Given the description of an element on the screen output the (x, y) to click on. 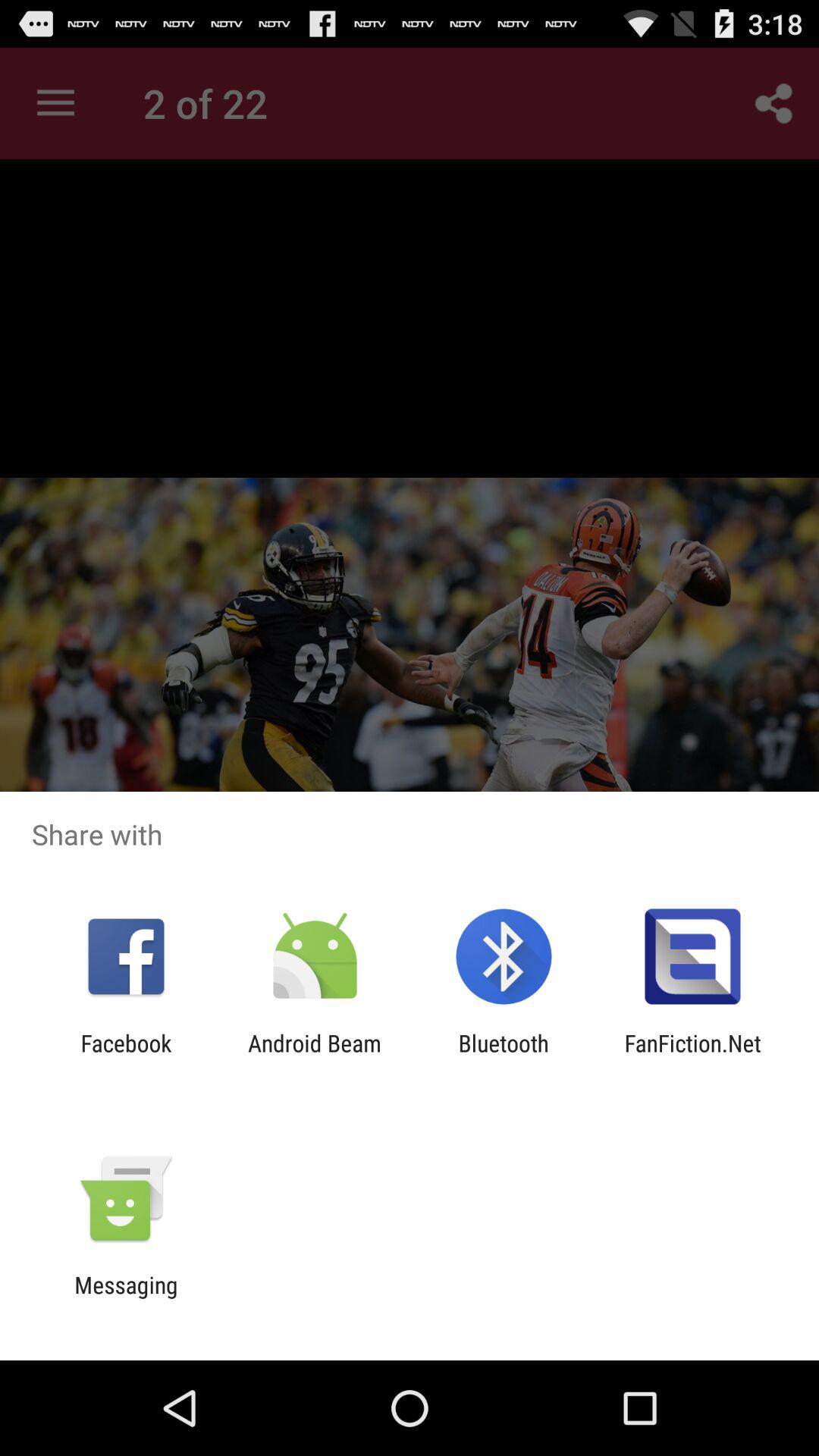
click the item to the right of facebook item (314, 1056)
